Given the description of an element on the screen output the (x, y) to click on. 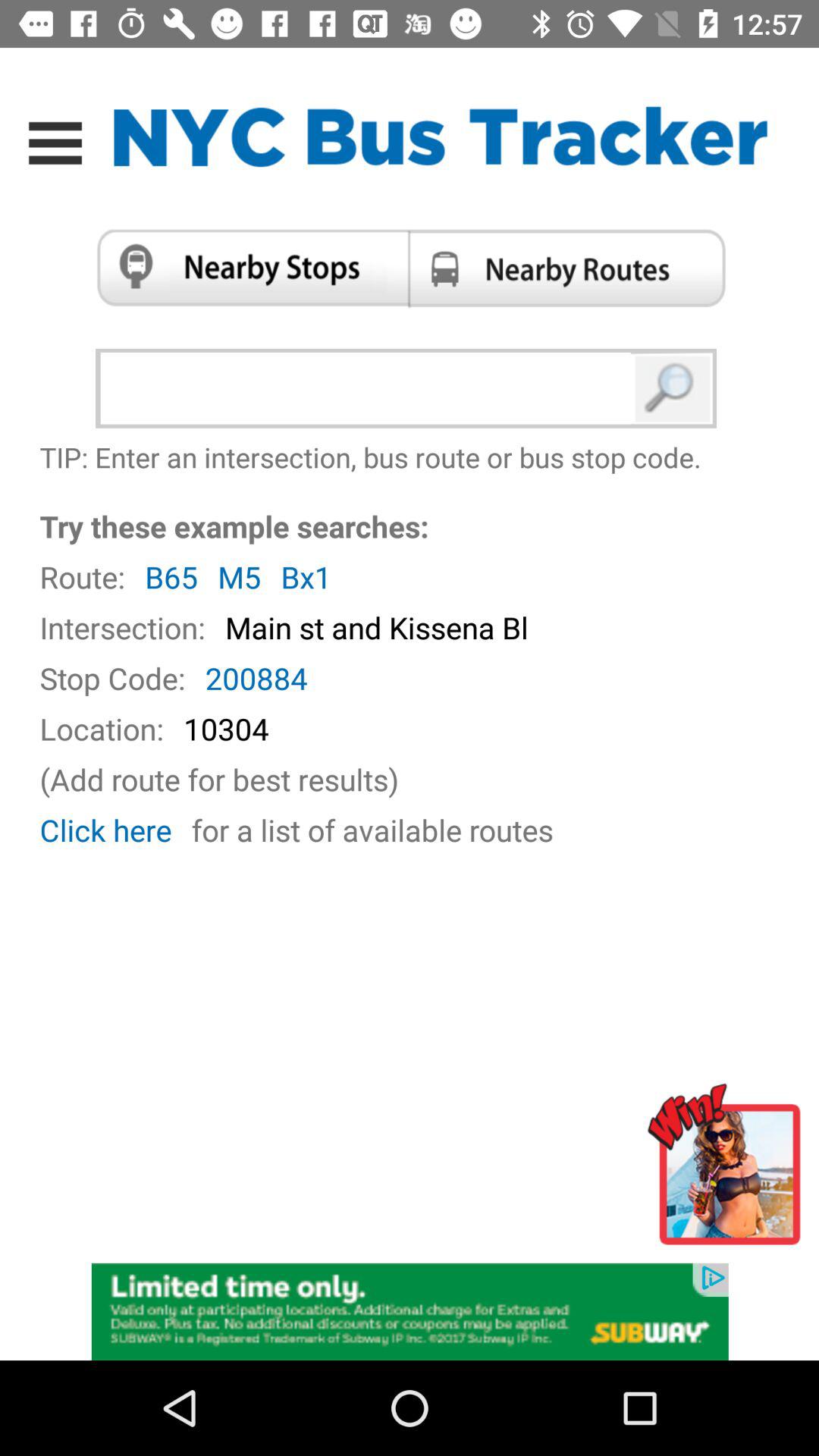
search for bus (673, 388)
